Given the description of an element on the screen output the (x, y) to click on. 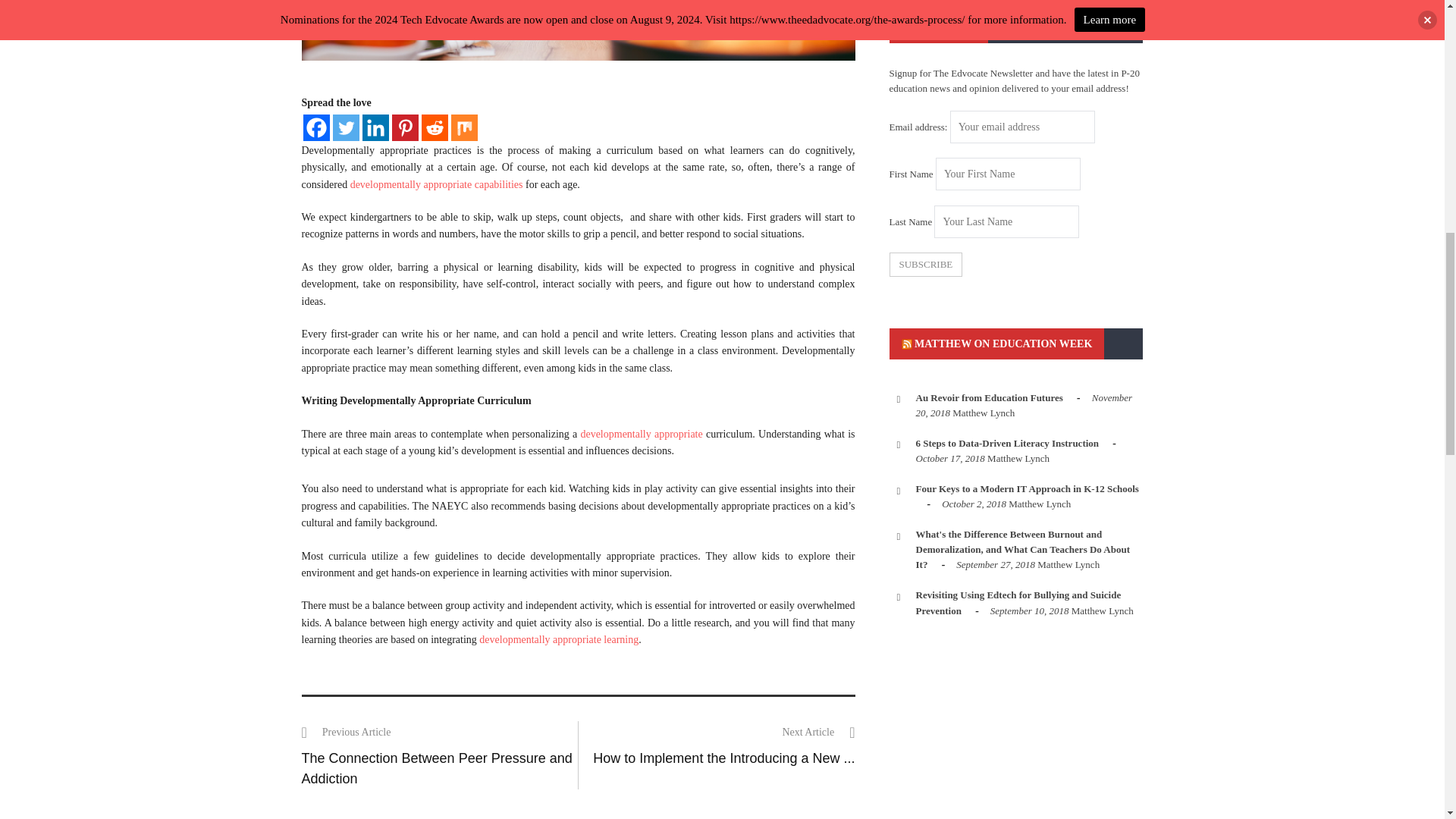
Mix (463, 127)
Facebook (316, 127)
Linkedin (375, 127)
Reddit (435, 127)
Twitter (344, 127)
Subscribe (925, 264)
Pinterest (404, 127)
